Given the description of an element on the screen output the (x, y) to click on. 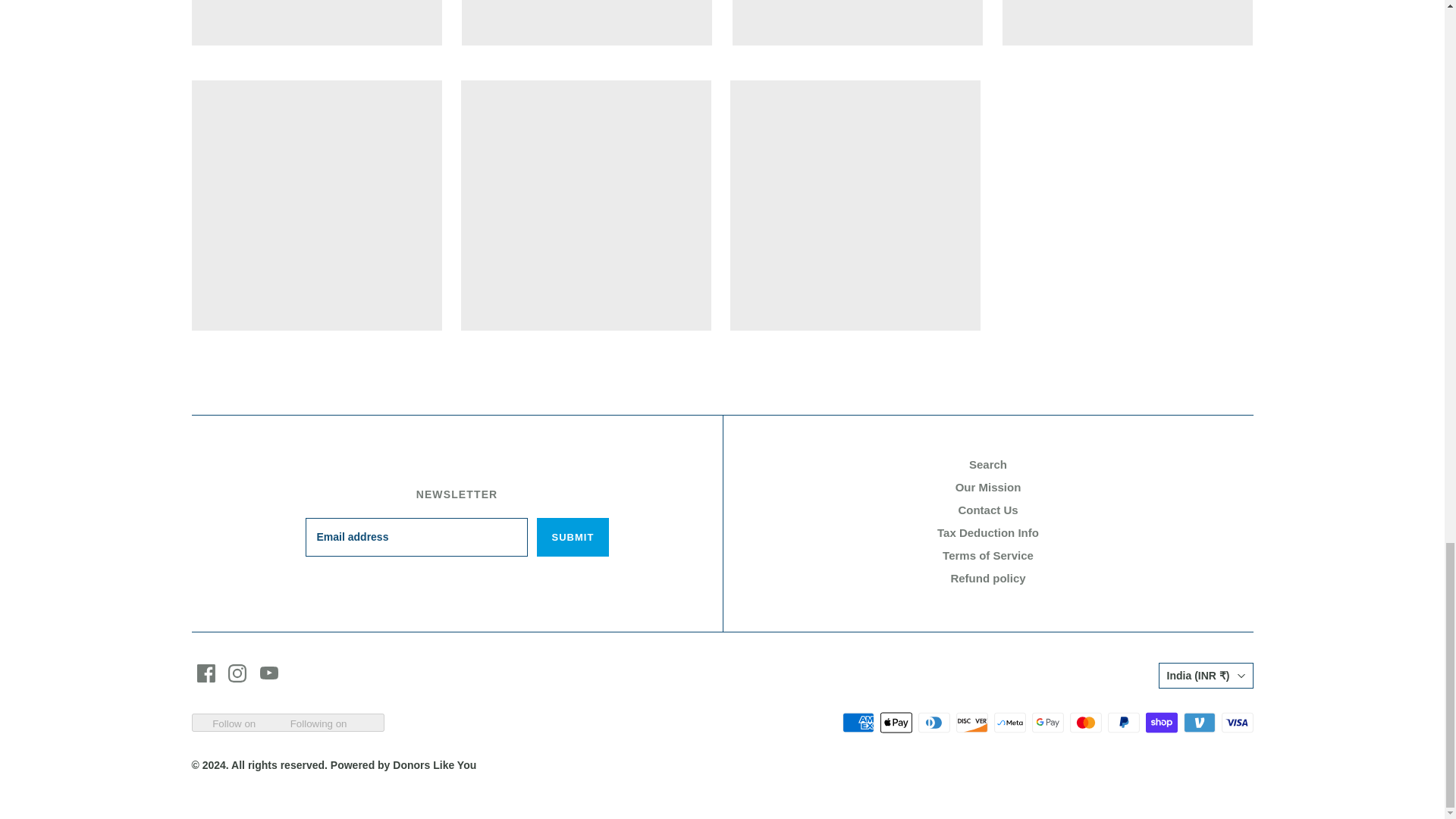
Google Pay (1046, 722)
Mastercard (1084, 722)
Diners Club (933, 722)
Apple Pay (895, 722)
American Express (857, 722)
Discover (971, 722)
Meta Pay (1008, 722)
